Given the description of an element on the screen output the (x, y) to click on. 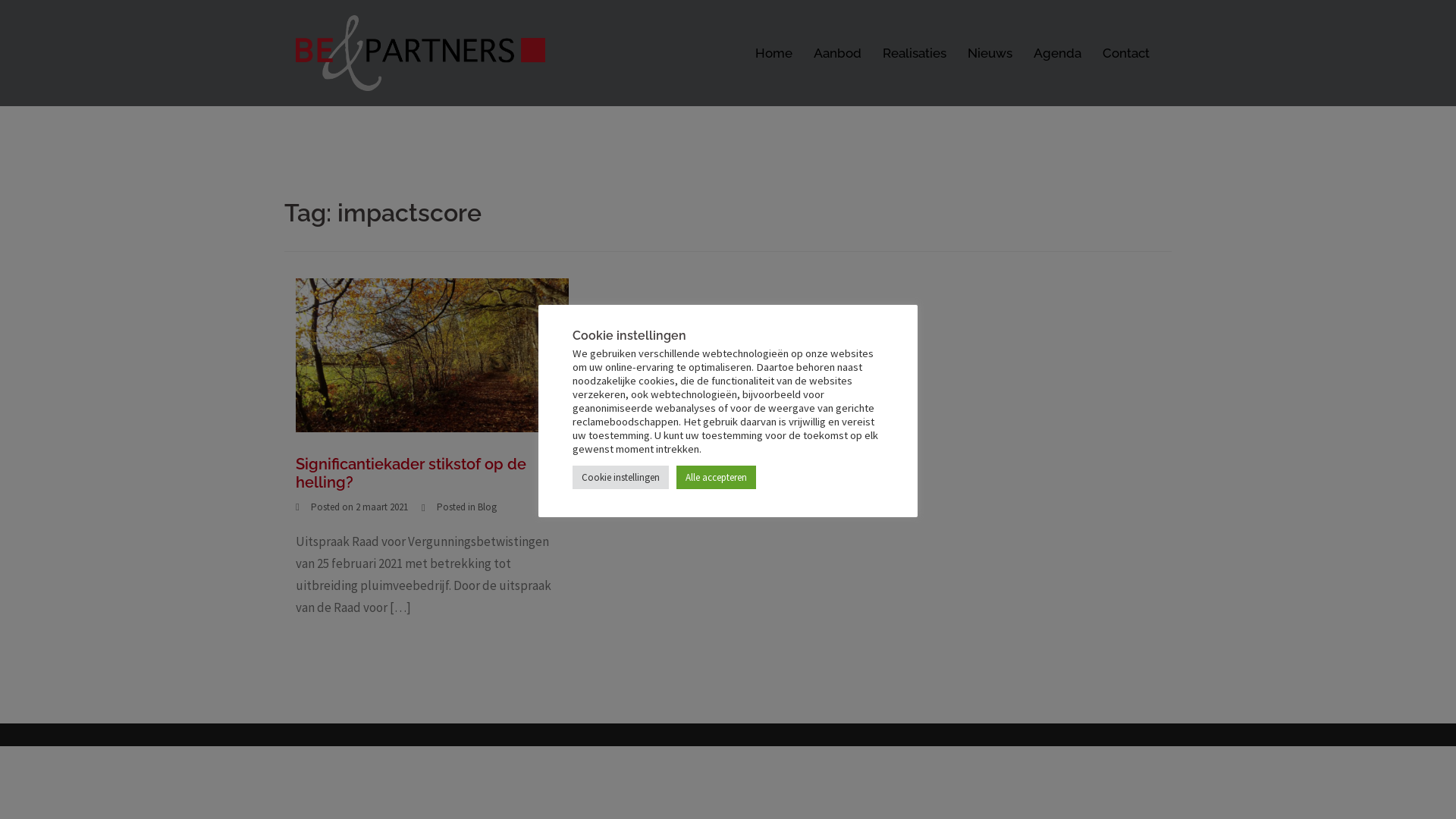
Blog Element type: text (486, 506)
Significantiekader stikstof op de helling? Element type: hover (431, 353)
be-partners Element type: hover (420, 51)
Cookie instellingen Element type: text (620, 477)
Aanbod Element type: text (837, 53)
Home Element type: text (773, 53)
Contact Element type: text (1125, 53)
2 maart 2021 Element type: text (381, 506)
Nieuws Element type: text (989, 53)
Significantiekader stikstof op de helling? Element type: text (410, 473)
Agenda Element type: text (1057, 53)
Realisaties Element type: text (914, 53)
Alle accepteren Element type: text (716, 477)
